Given the description of an element on the screen output the (x, y) to click on. 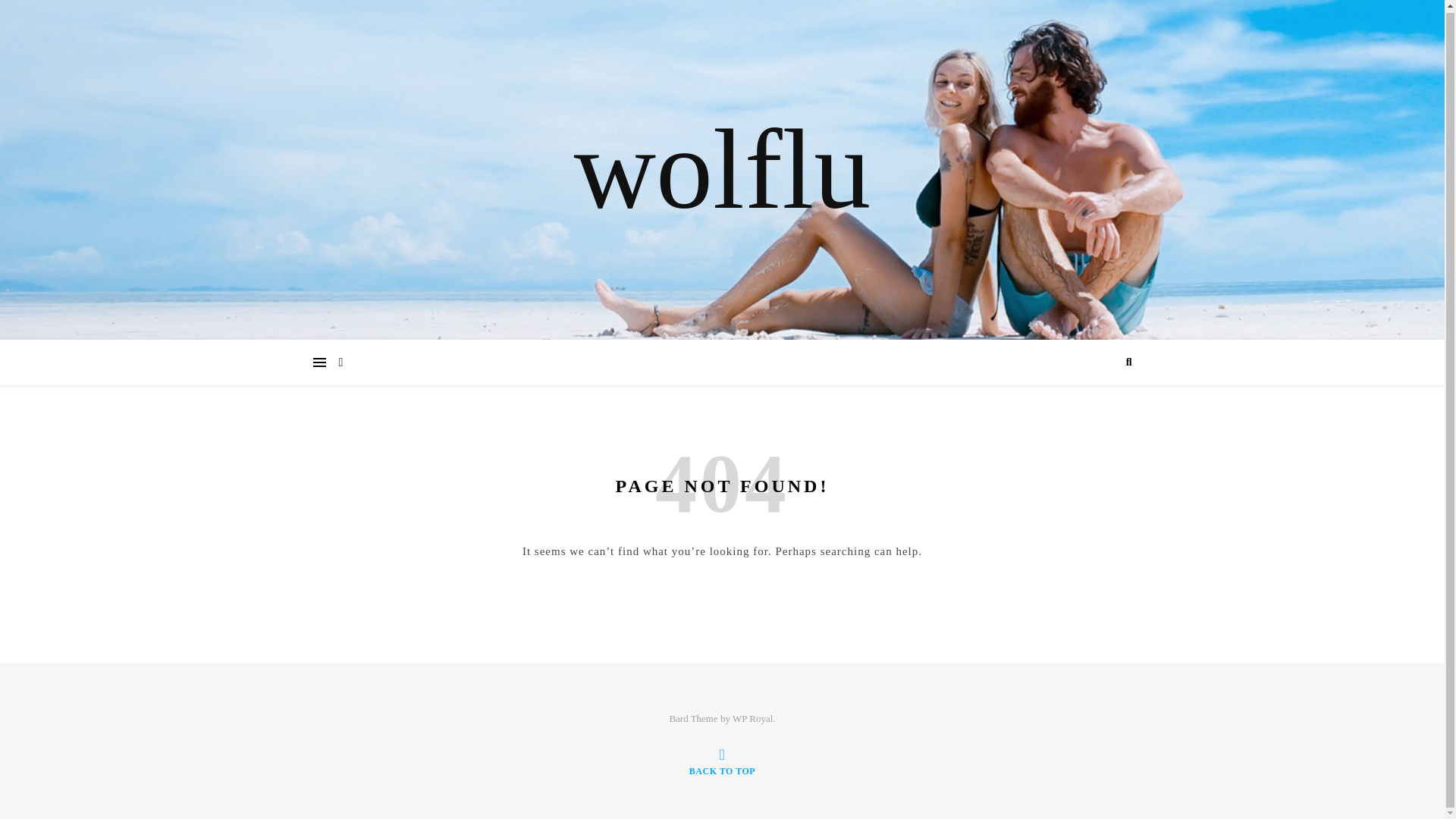
BACK TO TOP (722, 761)
WP Royal (752, 717)
